Given the description of an element on the screen output the (x, y) to click on. 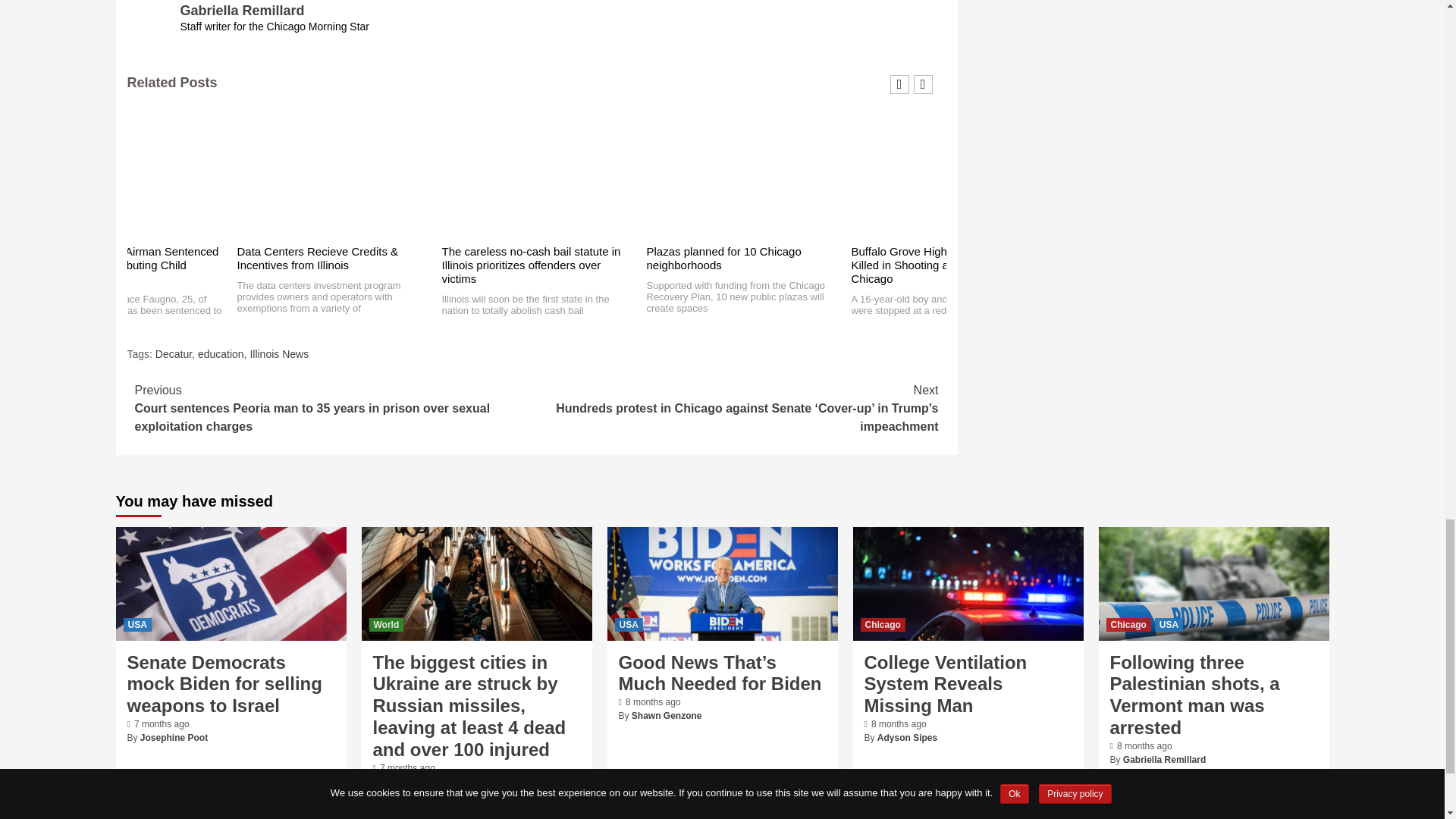
Plazas planned for 10 Chicago neighborhoods (723, 257)
Gabriella Remillard (242, 10)
